Given the description of an element on the screen output the (x, y) to click on. 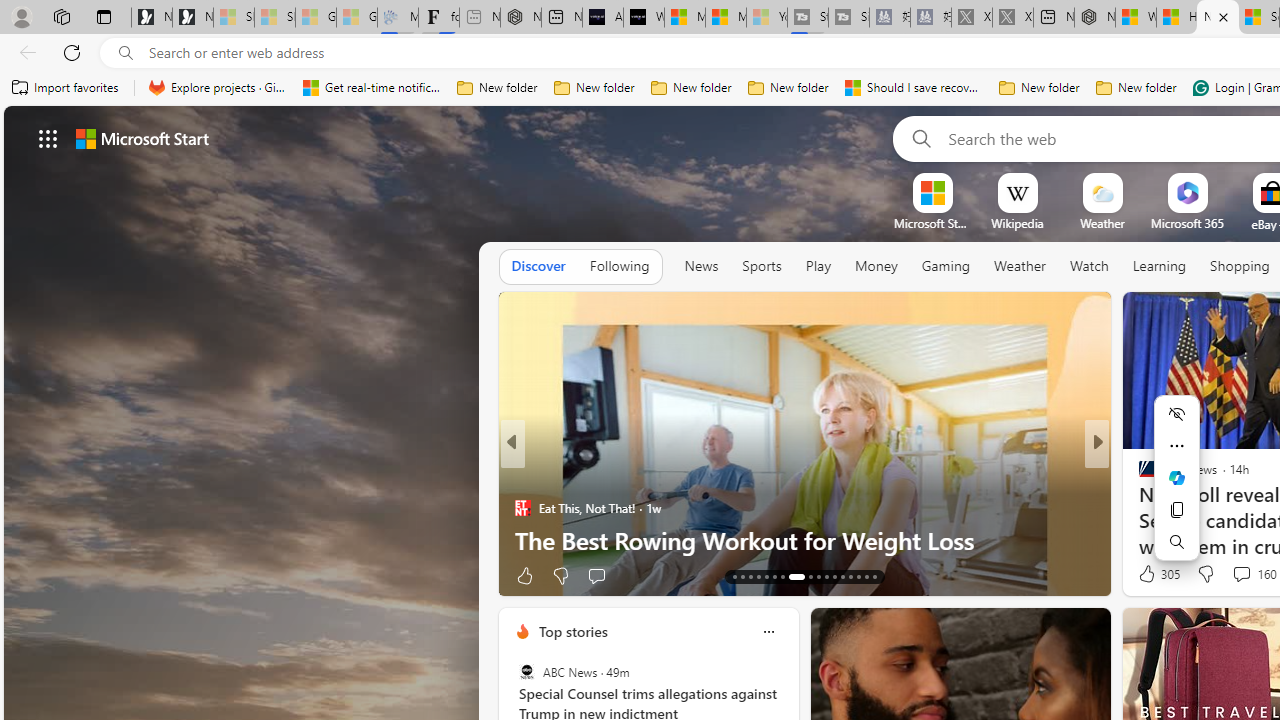
Shopping (1240, 265)
Reuters (1138, 475)
View comments 26 Comment (622, 574)
Search icon (125, 53)
157 Like (1151, 574)
AutomationID: tab-42 (865, 576)
Microsoft Start Sports (684, 17)
More options (768, 631)
View comments 1k Comment (1228, 575)
Personal Profile (21, 16)
Newsletter Sign Up (192, 17)
Wikipedia (1017, 223)
124 Like (1151, 574)
Cents + Purpose (1138, 507)
